Given the description of an element on the screen output the (x, y) to click on. 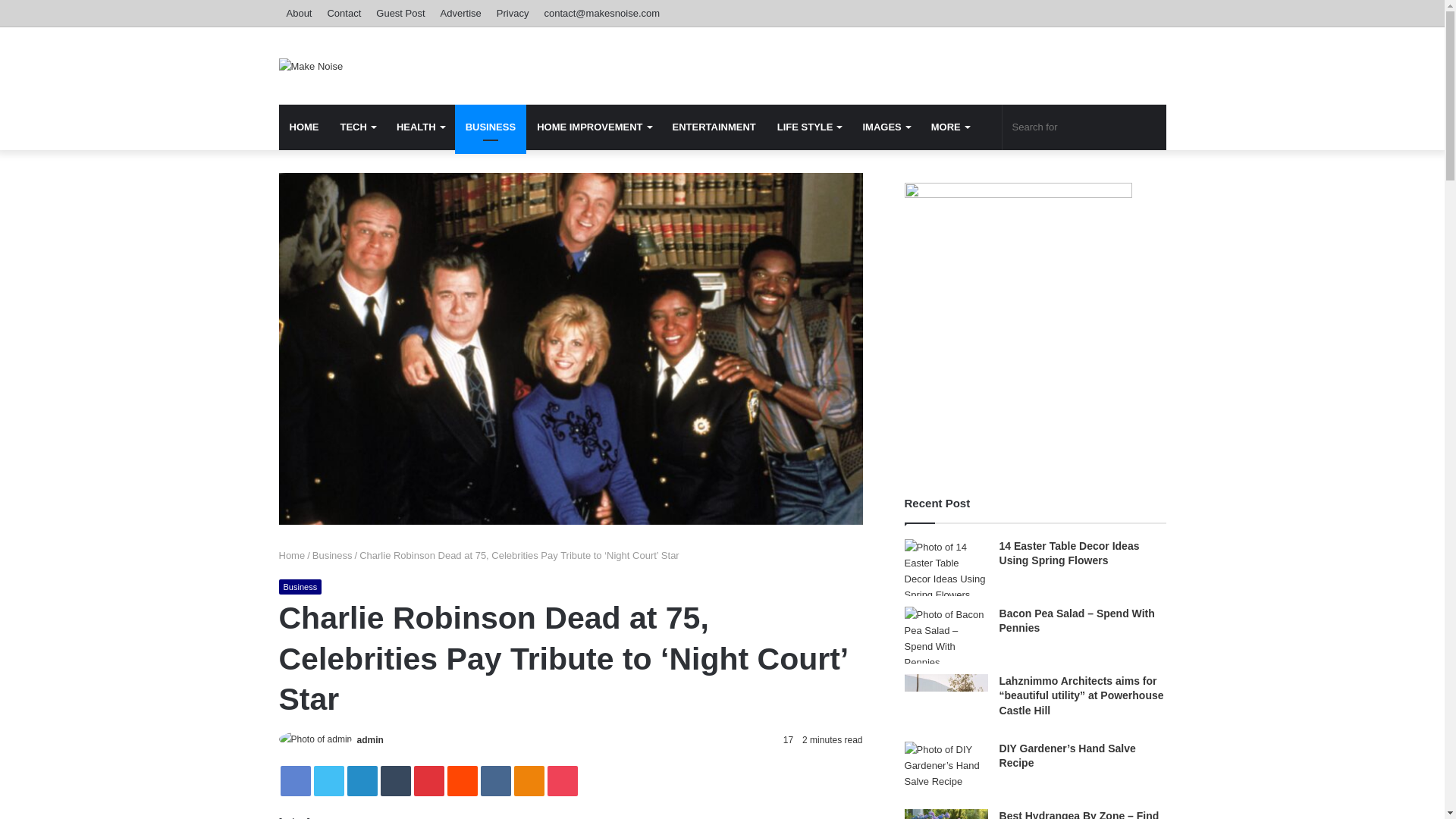
ENTERTAINMENT (714, 126)
Make Noise (311, 65)
About (299, 13)
LIFE STYLE (809, 126)
HOME IMPROVEMENT (593, 126)
Contact (343, 13)
BUSINESS (489, 126)
Privacy (513, 13)
Search for (1084, 126)
HOME (304, 126)
